Given the description of an element on the screen output the (x, y) to click on. 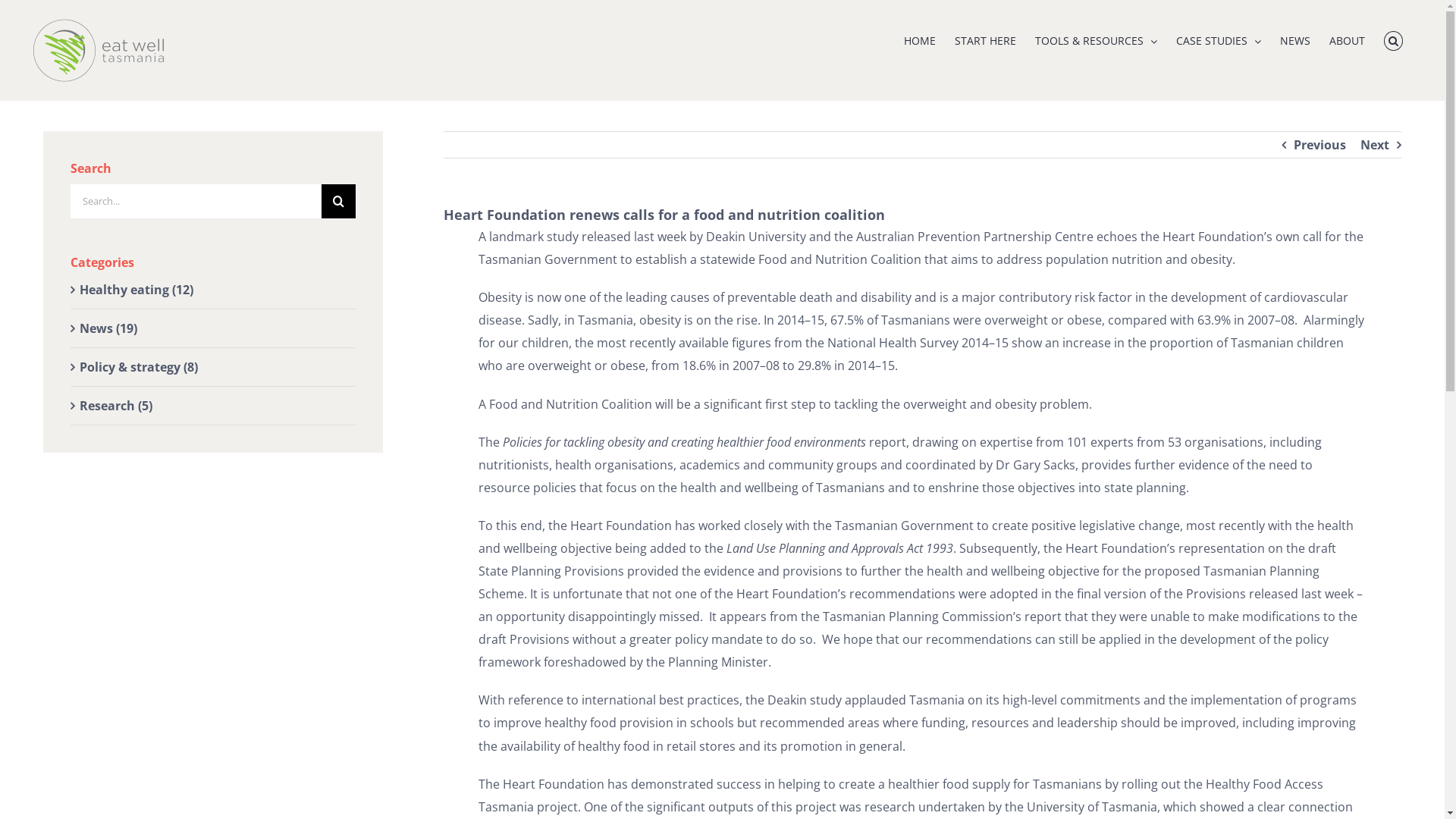
Next Element type: text (1374, 144)
Policy & strategy (8) Element type: text (213, 366)
Healthy eating (12) Element type: text (213, 289)
Research (5) Element type: text (213, 405)
ABOUT Element type: text (1347, 39)
Search Element type: hover (1392, 39)
Previous Element type: text (1319, 144)
TOOLS & RESOURCES Element type: text (1096, 39)
HOME Element type: text (919, 39)
CASE STUDIES Element type: text (1218, 39)
START HERE Element type: text (985, 39)
NEWS Element type: text (1295, 39)
News (19) Element type: text (213, 327)
